Given the description of an element on the screen output the (x, y) to click on. 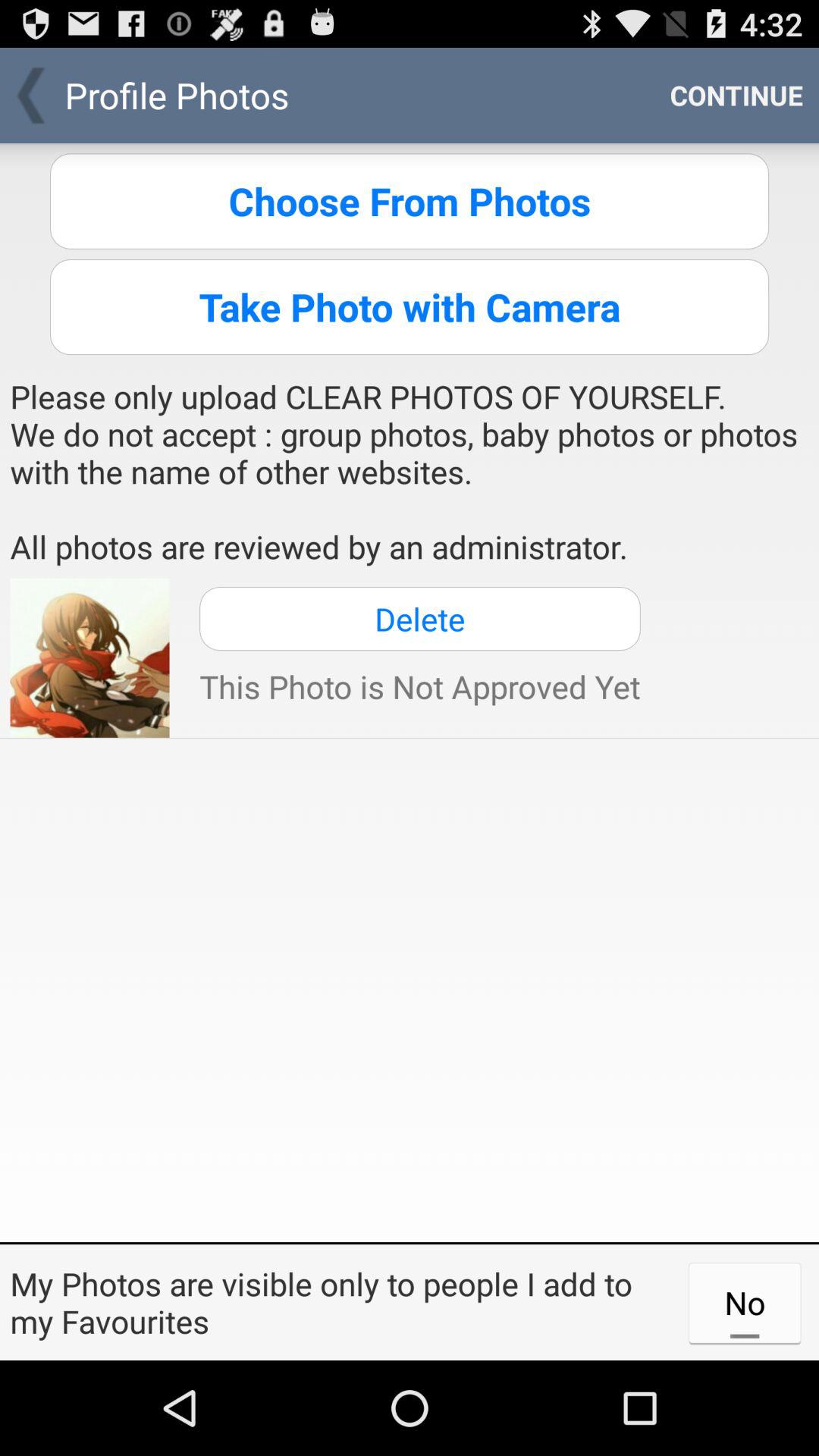
open the item below please only upload item (419, 618)
